Given the description of an element on the screen output the (x, y) to click on. 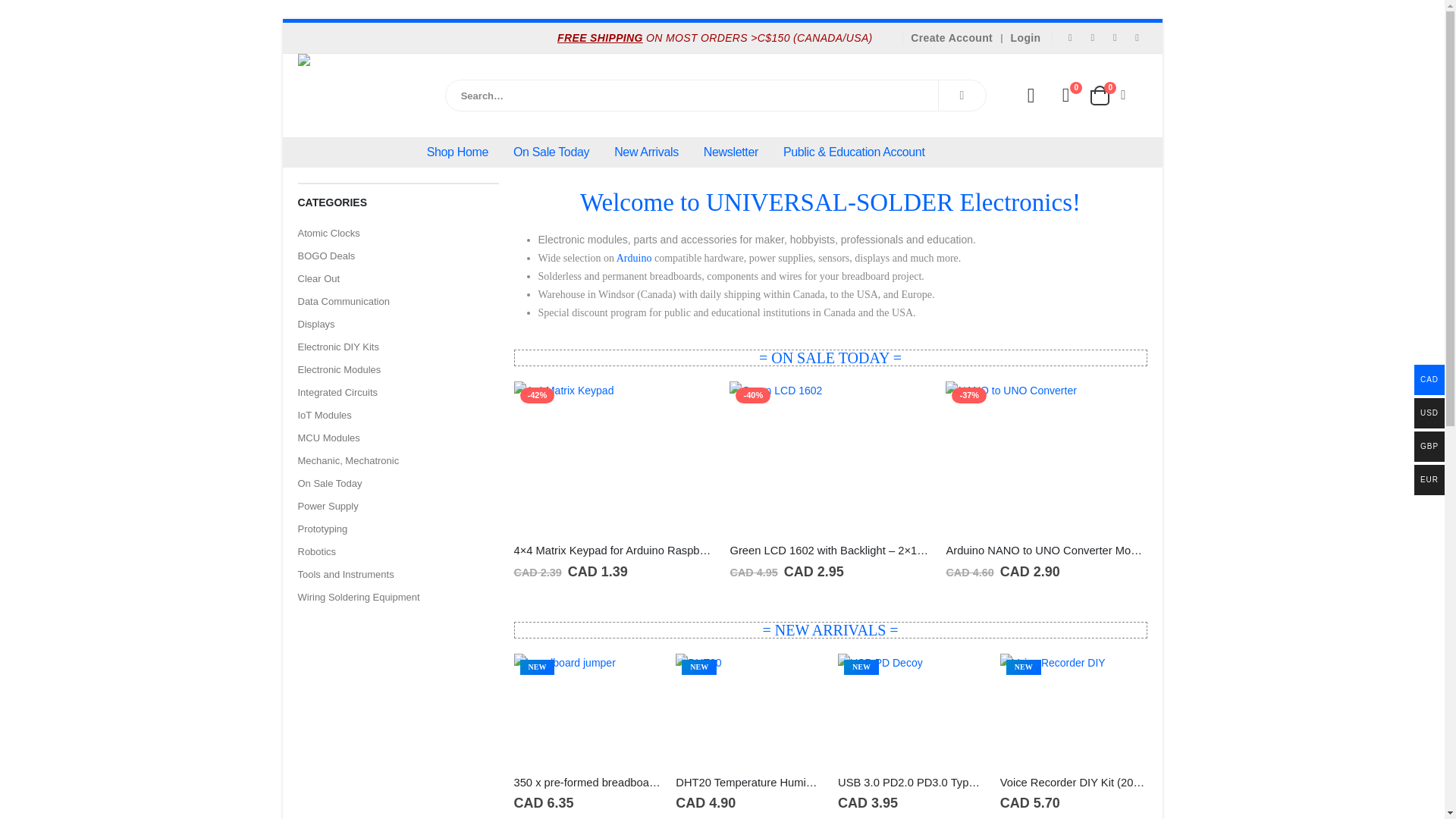
Pinterest (1114, 37)
Create Account (953, 37)
arduino (633, 257)
0 (1065, 95)
Shop Home (457, 152)
Login (1026, 37)
Arduino (633, 257)
Instagram (1136, 37)
Arduino NANO to UNO Converter Module (1045, 550)
New Arrivals (646, 152)
